Given the description of an element on the screen output the (x, y) to click on. 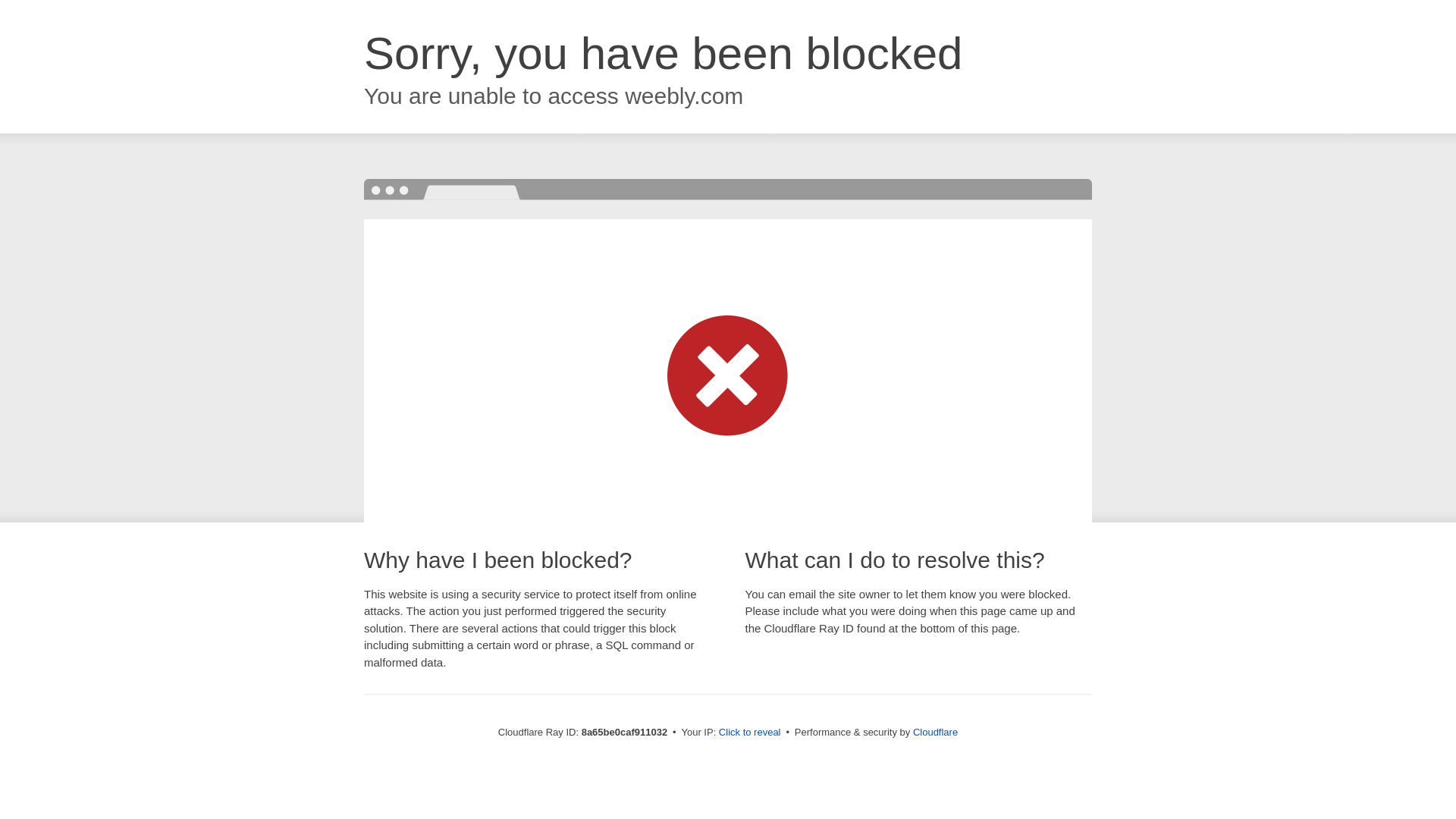
Click to reveal (749, 732)
Cloudflare (935, 731)
